Given the description of an element on the screen output the (x, y) to click on. 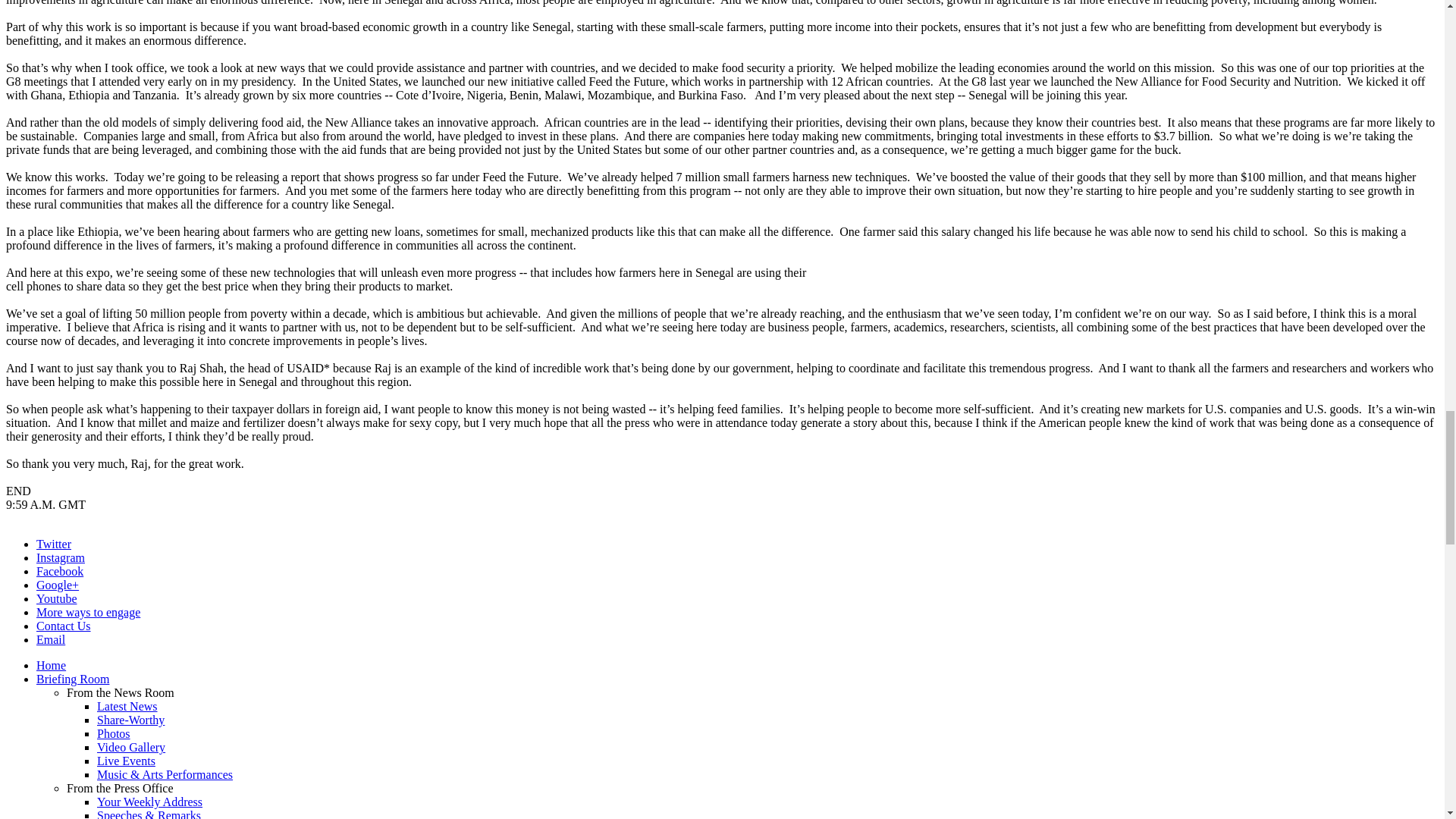
Visit The Whitehouse Channel on Youtube. (56, 598)
Check out the most popular infographics and videos (130, 719)
Watch behind-the-scenes videos and more (131, 747)
Email the Whitehouse. (50, 639)
More ways to engage with the Whitehouse. (87, 612)
Contact the Whitehouse. (63, 625)
Like the Whitehouse on Facebook. (59, 571)
Follow the Whitehouse on Twitter. (53, 543)
Read the latest blog posts from 1600 Pennsylvania Ave (127, 706)
View the photo of the day and other galleries (114, 733)
